Given the description of an element on the screen output the (x, y) to click on. 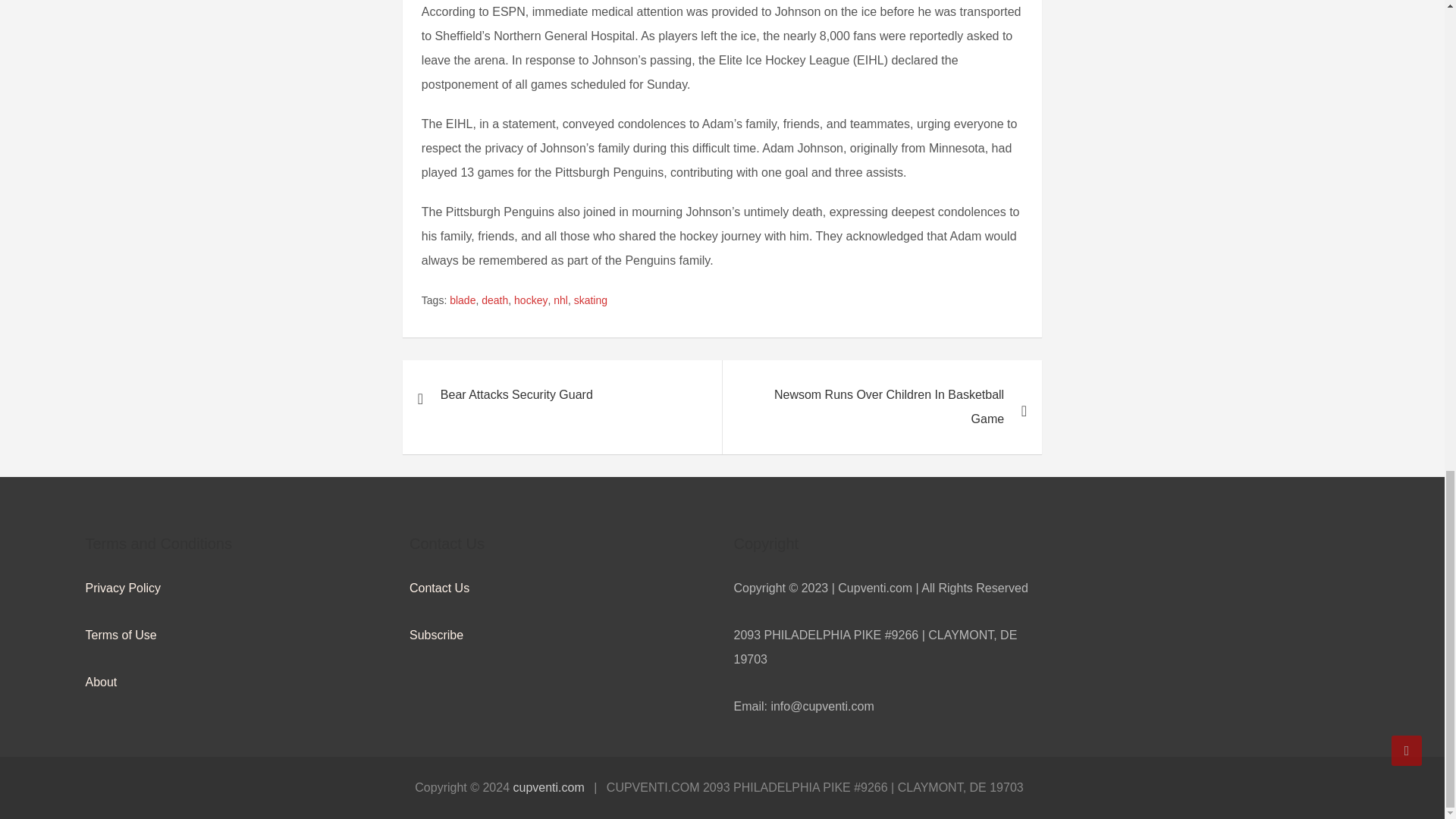
cupventi.com (547, 787)
Subscribe (436, 634)
blade (462, 300)
cupventi.com (547, 787)
hockey (530, 300)
death (494, 300)
About (100, 681)
skating (590, 300)
Privacy Policy (122, 587)
Terms of Use (119, 634)
